Given the description of an element on the screen output the (x, y) to click on. 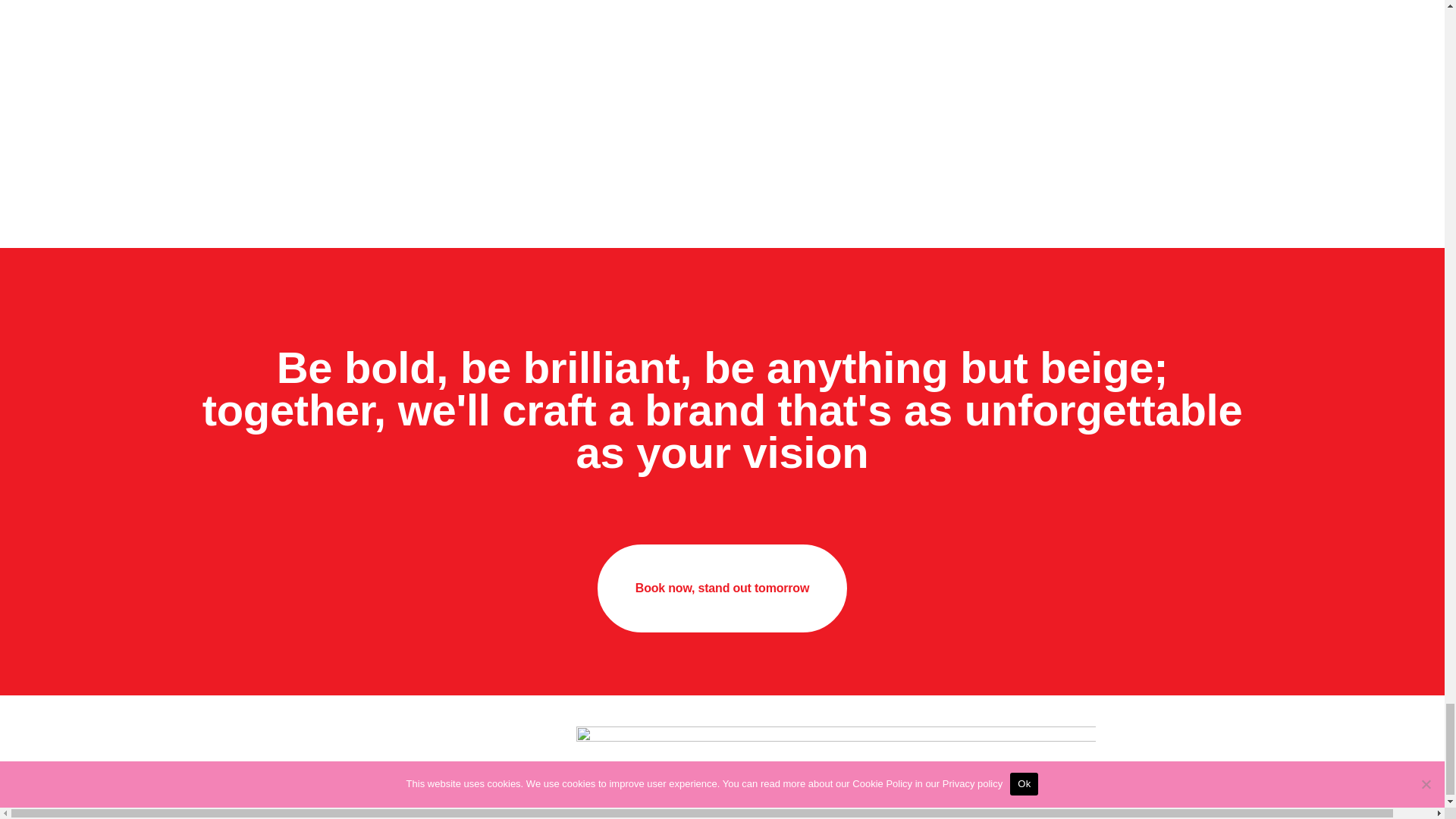
Book now, stand out tomorrow (721, 588)
